Given the description of an element on the screen output the (x, y) to click on. 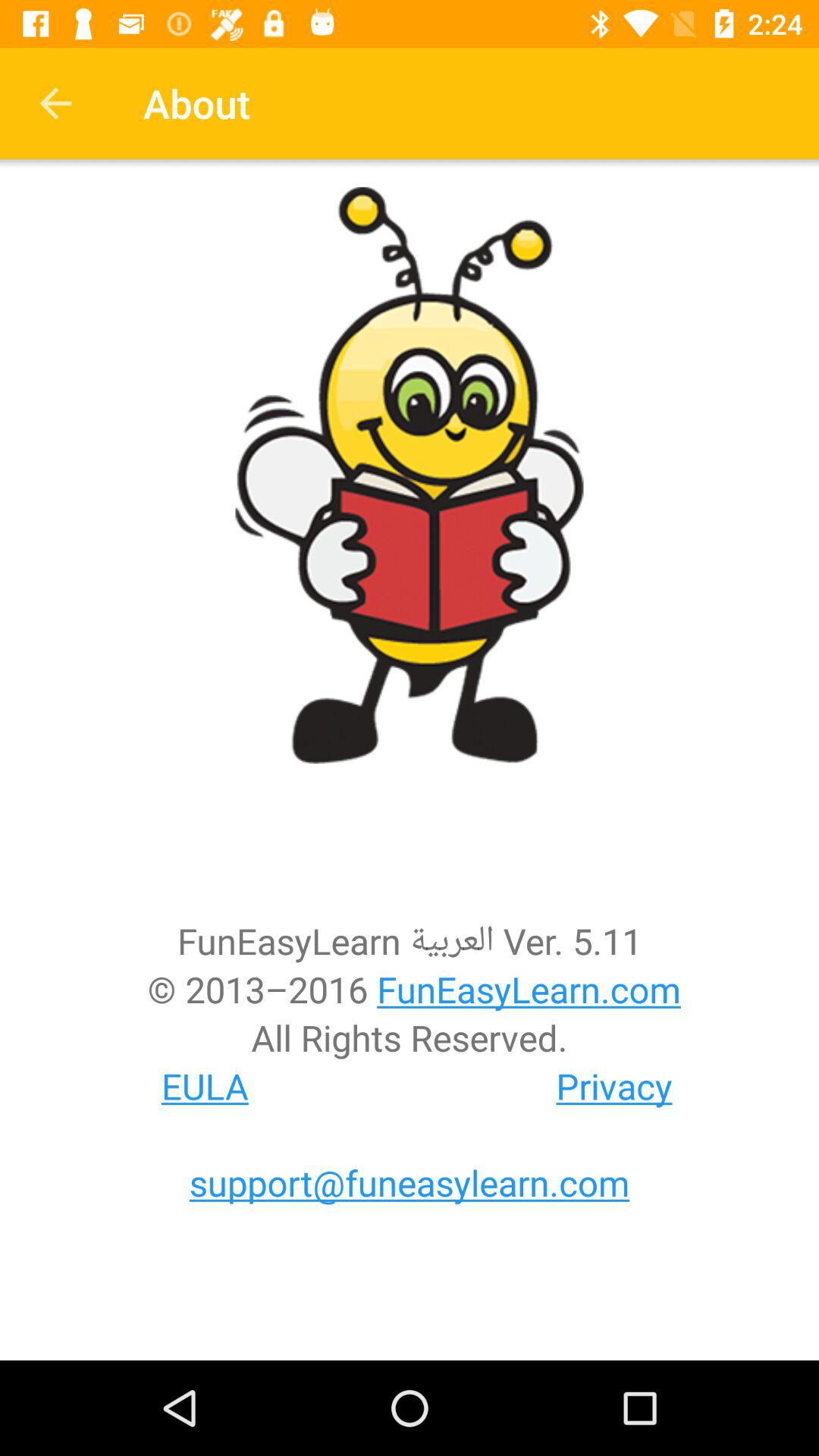
click icon next to privacy icon (204, 1085)
